Given the description of an element on the screen output the (x, y) to click on. 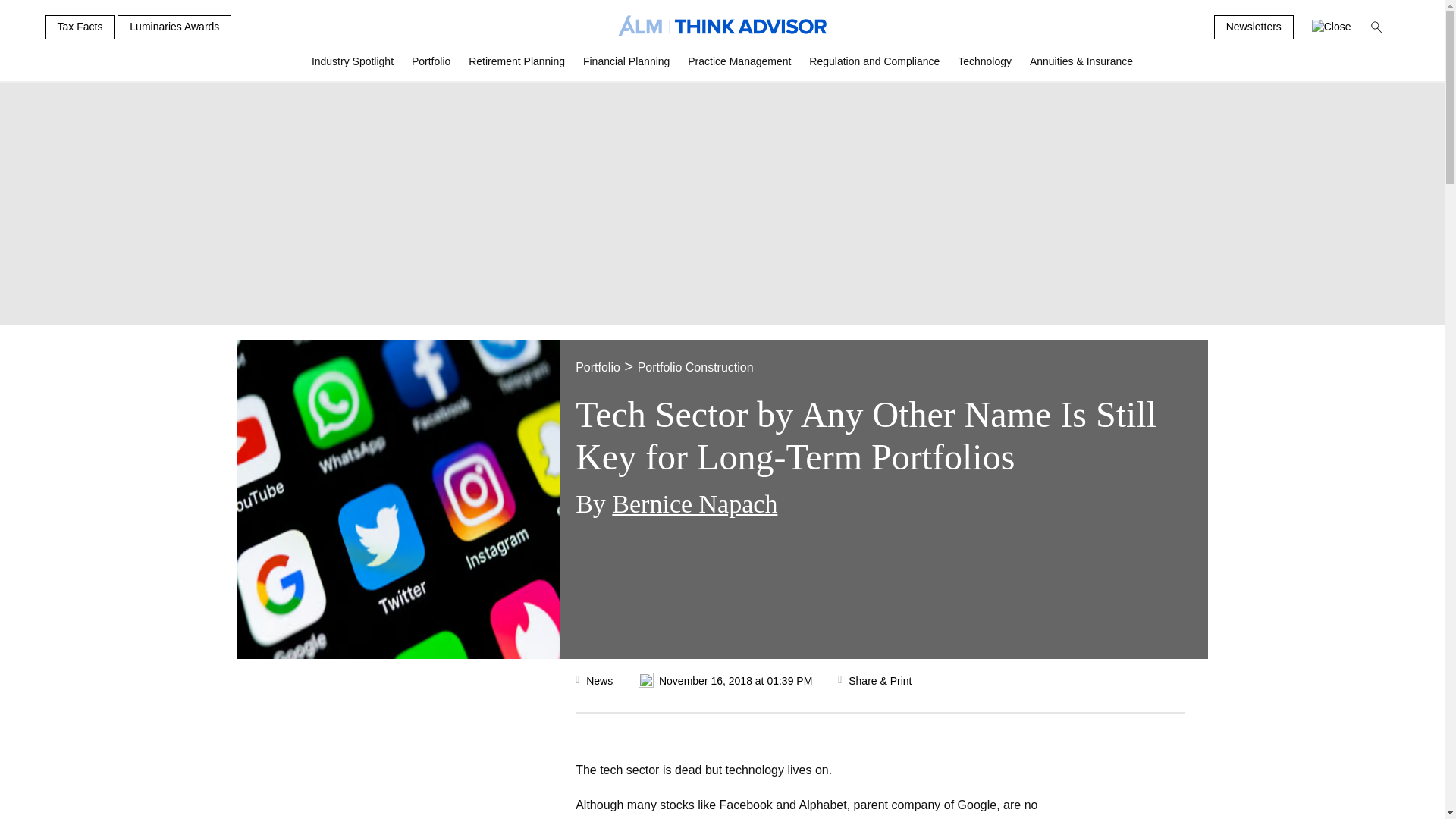
Luminaries Awards (174, 27)
Industry Spotlight (352, 67)
Newsletters (1254, 27)
Tax Facts (80, 27)
